Given the description of an element on the screen output the (x, y) to click on. 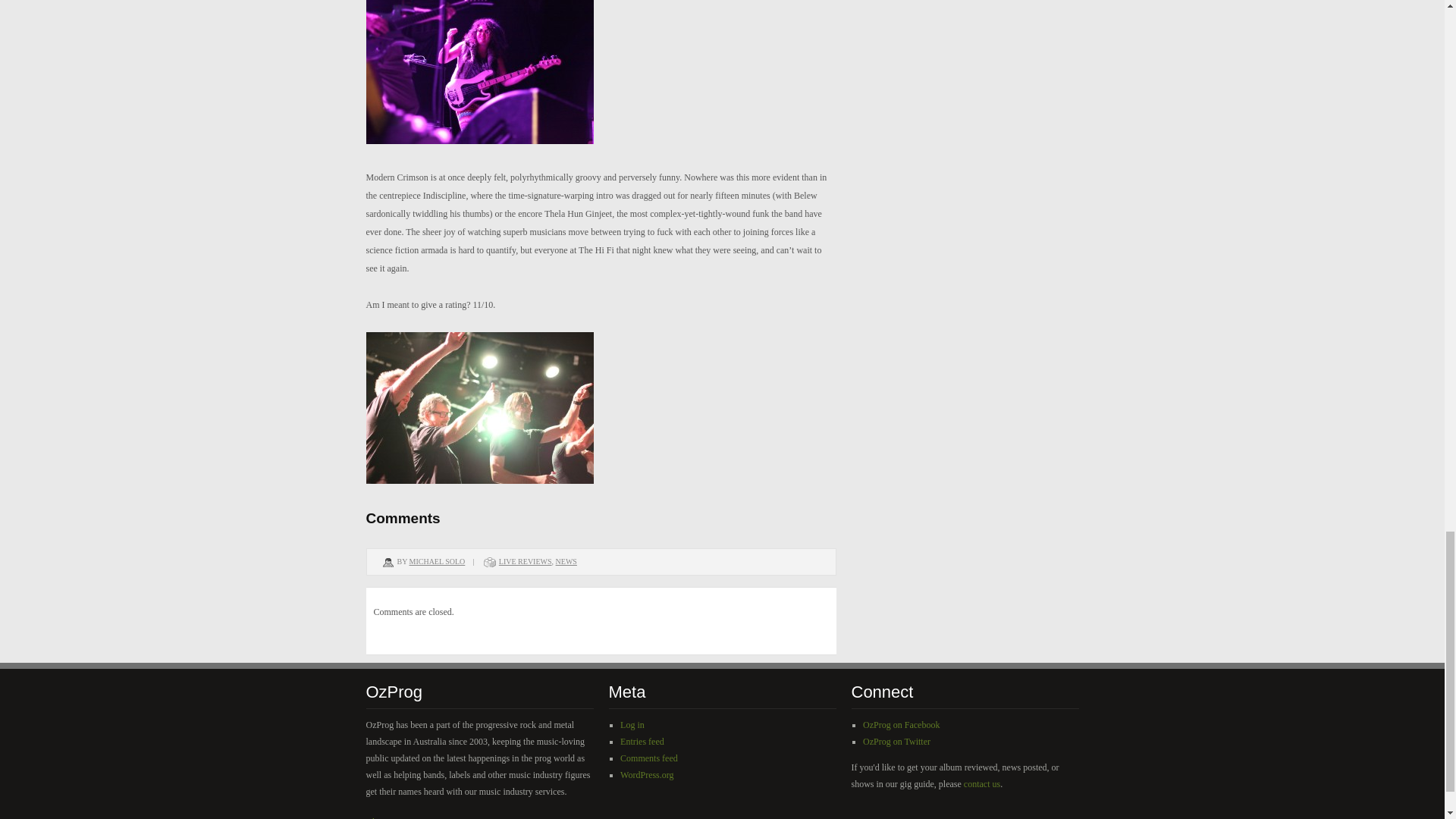
OzProg on Twitter (896, 741)
About OzProg (392, 817)
Comments feed (649, 757)
Log in (632, 724)
NEWS (566, 561)
contact us (981, 783)
Entries feed (641, 741)
LIVE REVIEWS (525, 561)
MICHAEL SOLO (437, 561)
WordPress.org (646, 774)
OzProg on Facebook (901, 724)
View all posts by Michael Solo (437, 561)
